Given the description of an element on the screen output the (x, y) to click on. 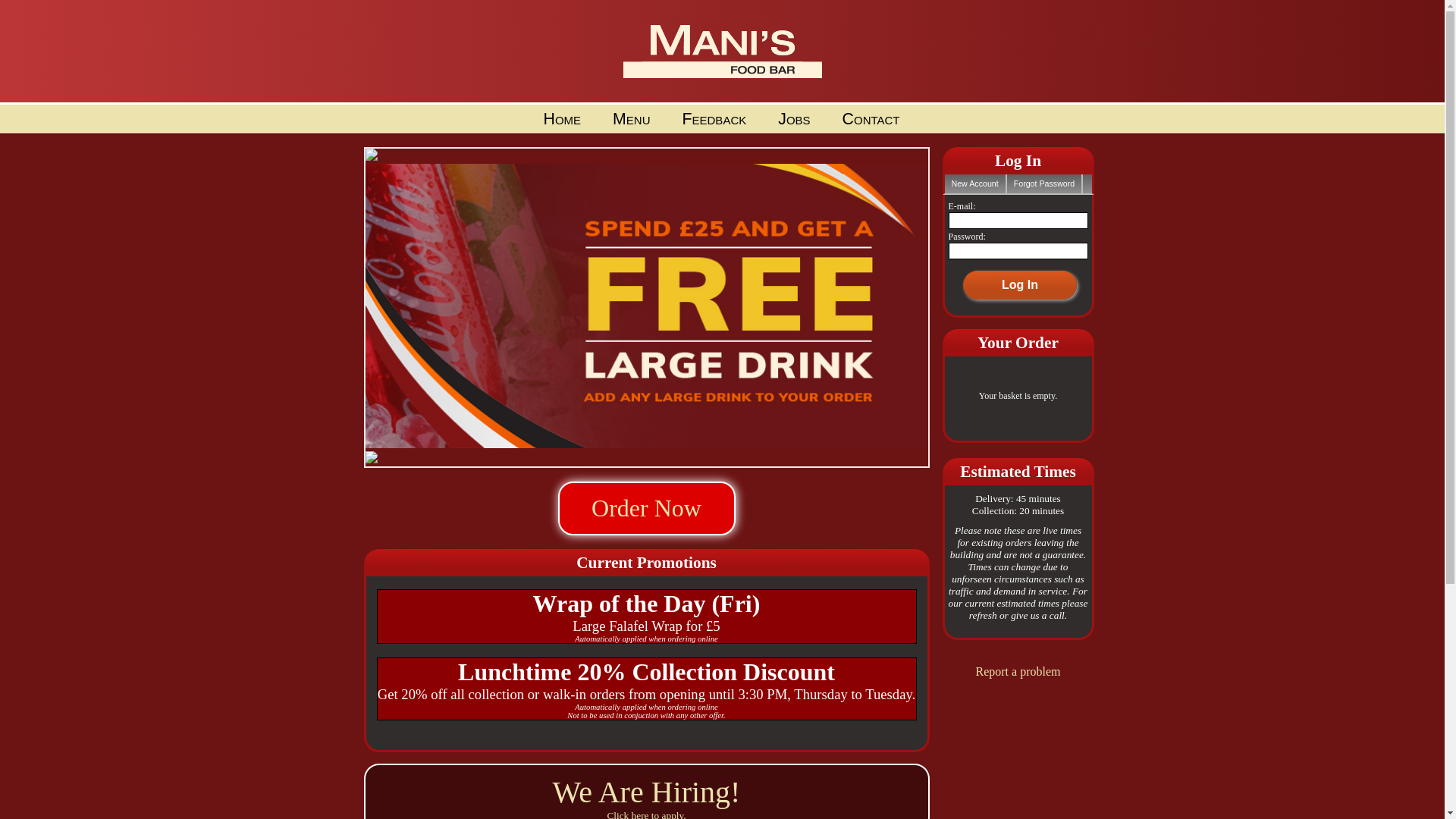
Log In Element type: text (1019, 284)
Report a problem Element type: text (1017, 671)
Order Now Element type: text (646, 514)
Forgot Password Element type: text (1044, 183)
Jobs Element type: text (793, 118)
Menu Element type: text (631, 118)
New Account Element type: text (974, 183)
Contact Element type: text (871, 118)
Feedback Element type: text (714, 118)
Home Element type: text (561, 118)
